Given the description of an element on the screen output the (x, y) to click on. 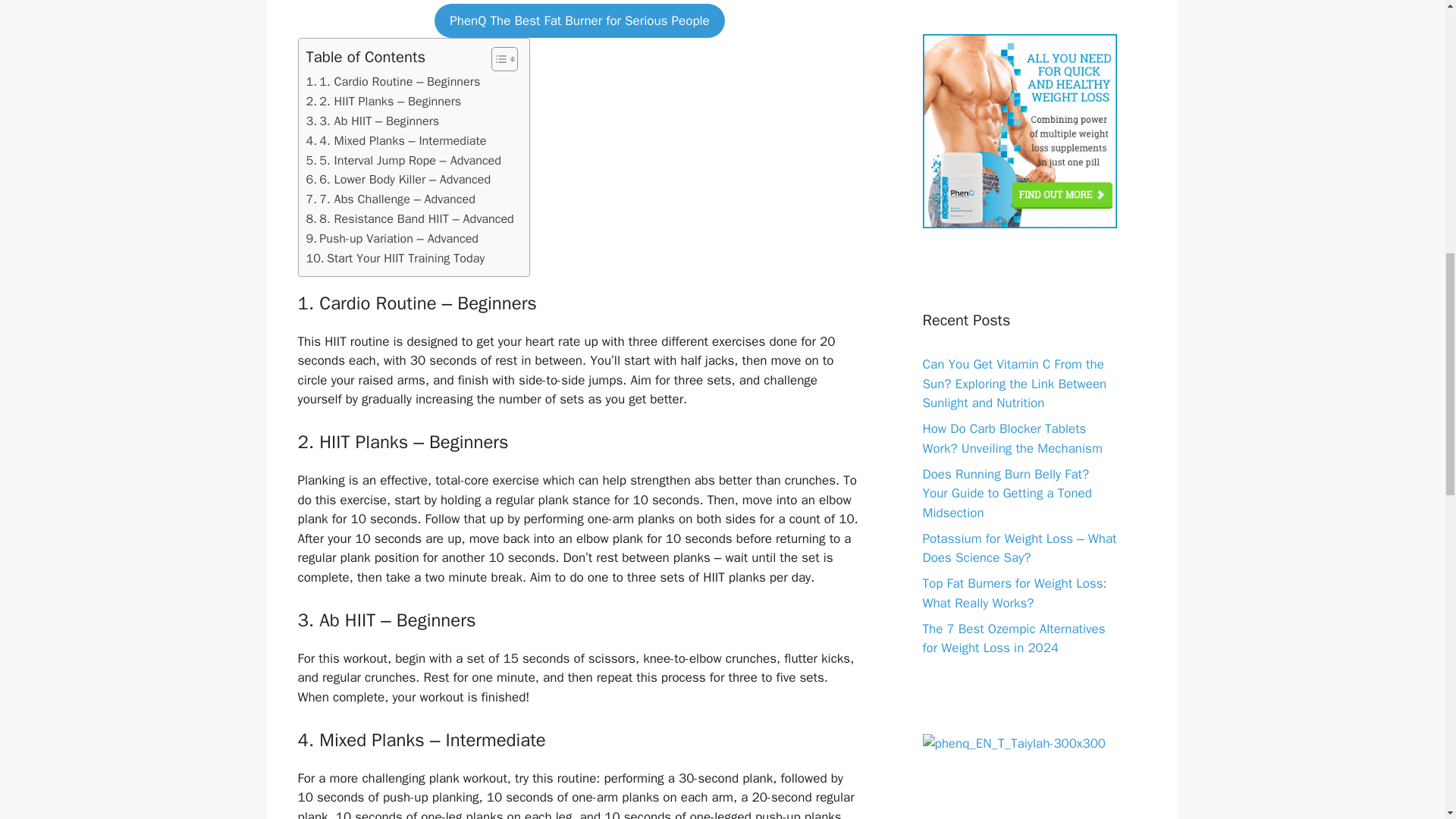
Start Your HIIT Training Today (394, 258)
Start Your HIIT Training Today (394, 258)
Top Fat Burners for Weight Loss: What Really Works? (1013, 592)
Scroll back to top (1406, 720)
PhenQ The Best Fat Burner for Serious People (579, 21)
How Do Carb Blocker Tablets Work? Unveiling the Mechanism (1011, 438)
The 7 Best Ozempic Alternatives for Weight Loss in 2024 (1013, 638)
